Given the description of an element on the screen output the (x, y) to click on. 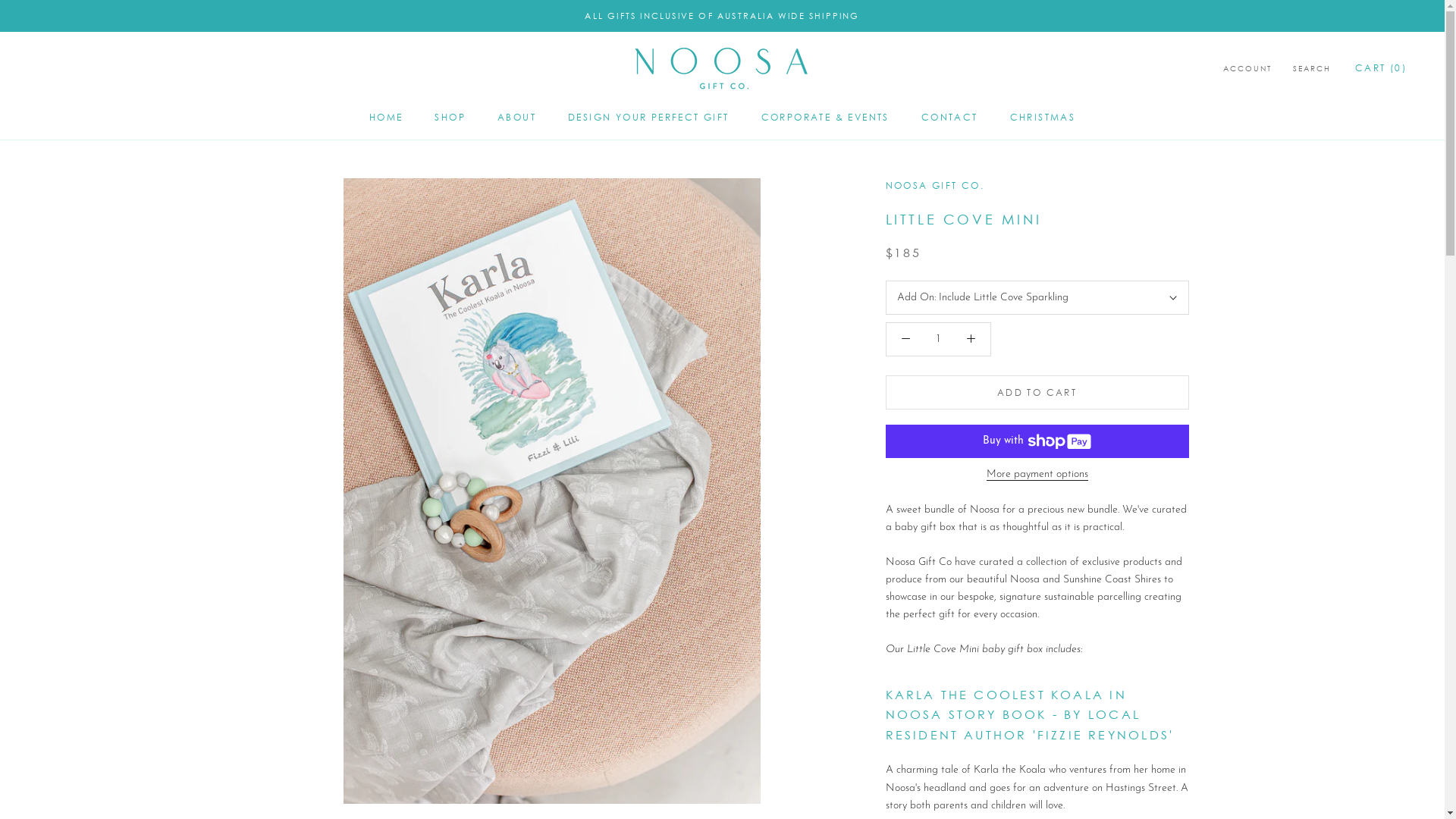
SHOP
SHOP Element type: text (449, 116)
More payment options Element type: text (1036, 474)
CART (0) Element type: text (1380, 67)
ADD TO CART Element type: text (1037, 392)
ABOUT Element type: text (516, 116)
Add On: Include Little Cove Sparkling Element type: text (1037, 297)
DESIGN YOUR PERFECT GIFT
DESIGN YOUR PERFECT GIFT Element type: text (648, 116)
HOME
HOME Element type: text (386, 116)
SEARCH Element type: text (1311, 68)
ACCOUNT Element type: text (1247, 68)
CORPORATE & EVENTS
CORPORATE & EVENTS Element type: text (825, 116)
CONTACT
CONTACT Element type: text (949, 116)
CHRISTMAS
CHRISTMAS Element type: text (1043, 116)
